Given the description of an element on the screen output the (x, y) to click on. 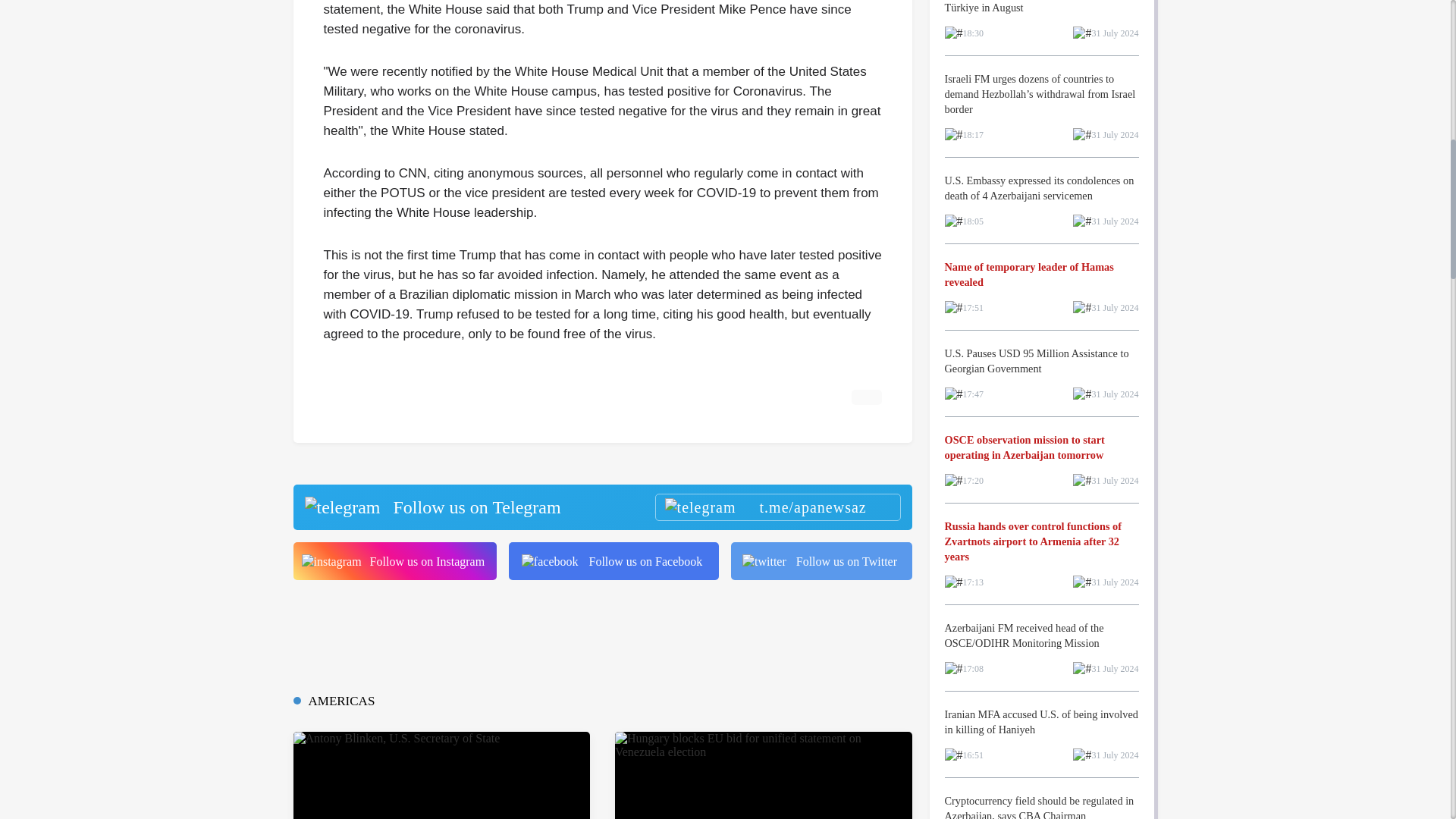
Follow us on Twitter (821, 560)
Follow us on Instagram (394, 560)
Follow us on Telegram (601, 506)
Follow us on Facebook (613, 560)
